Given the description of an element on the screen output the (x, y) to click on. 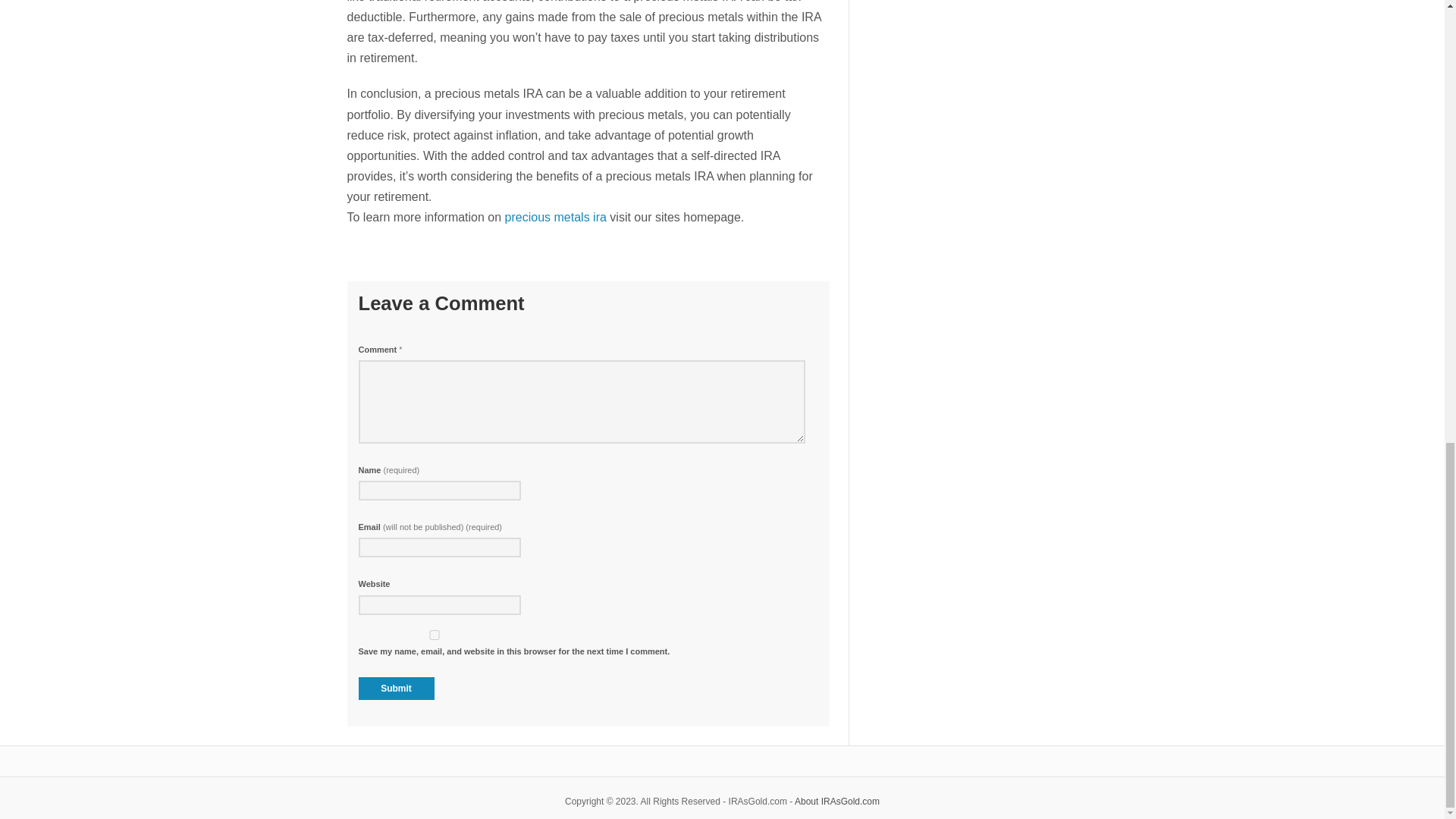
Submit (395, 688)
yes (433, 634)
precious metals ira (556, 216)
Submit (395, 688)
About IRAsGold.com (836, 801)
